Given the description of an element on the screen output the (x, y) to click on. 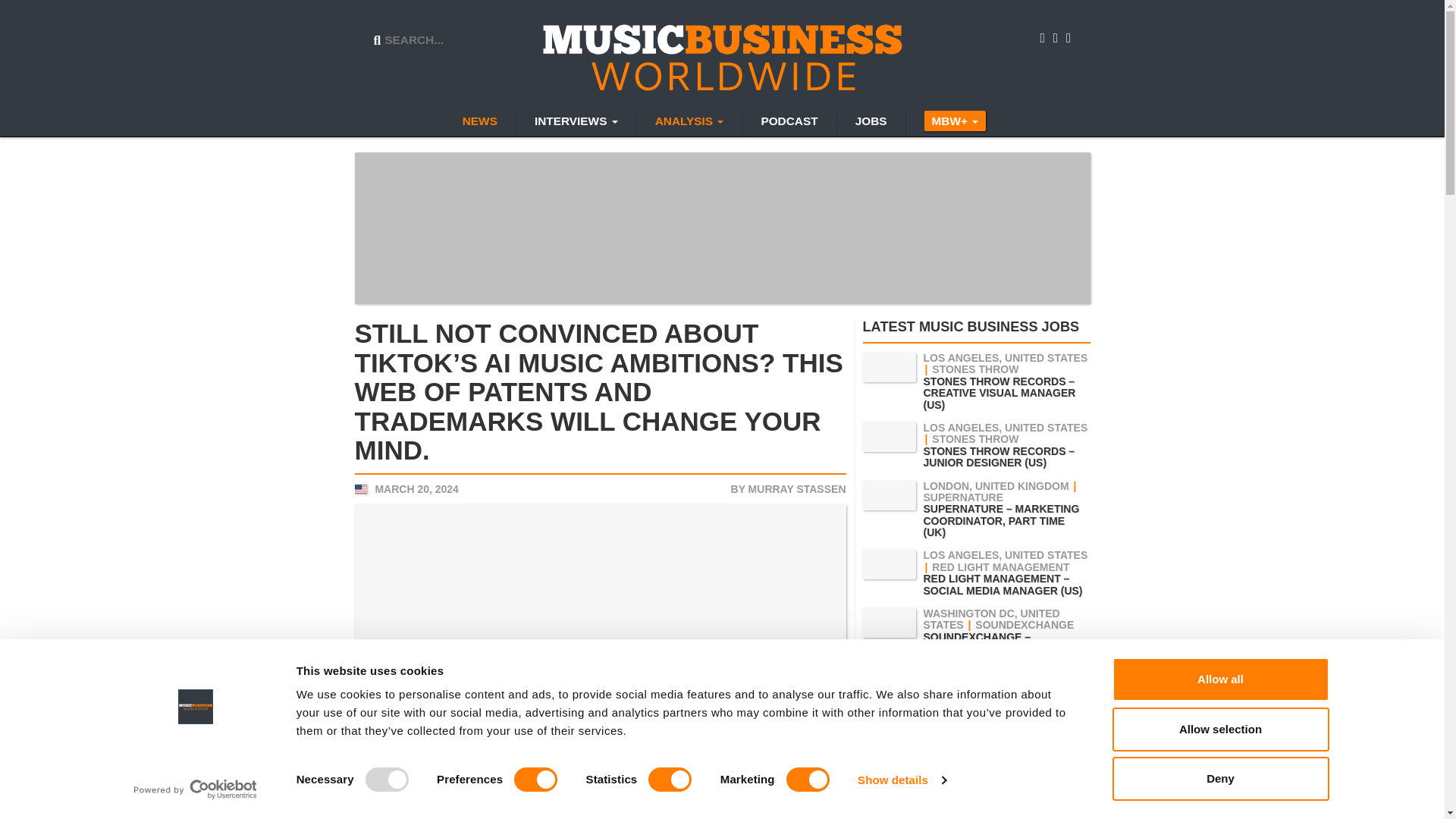
Show details (900, 780)
